Given the description of an element on the screen output the (x, y) to click on. 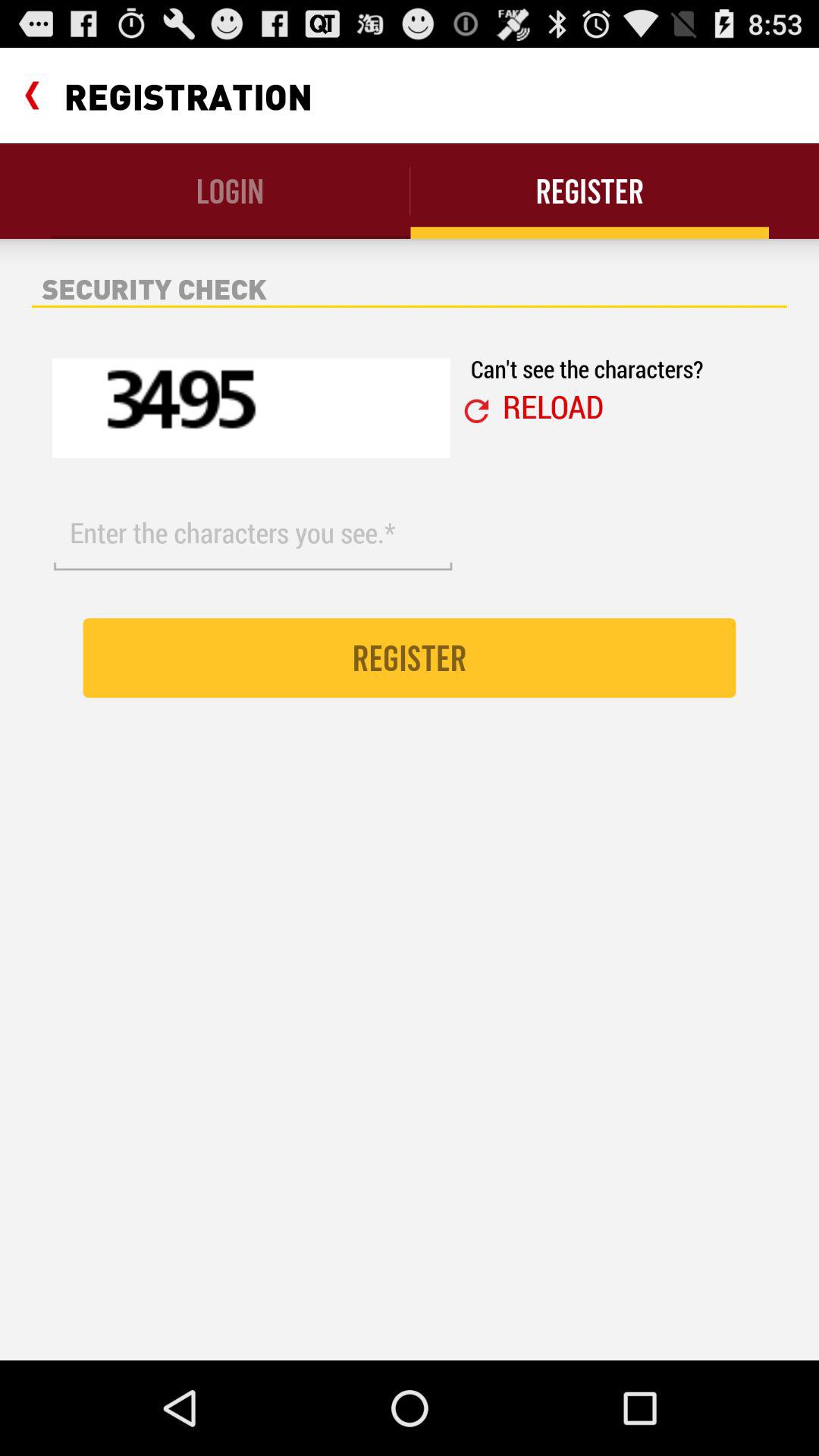
tap the reload (553, 406)
